Given the description of an element on the screen output the (x, y) to click on. 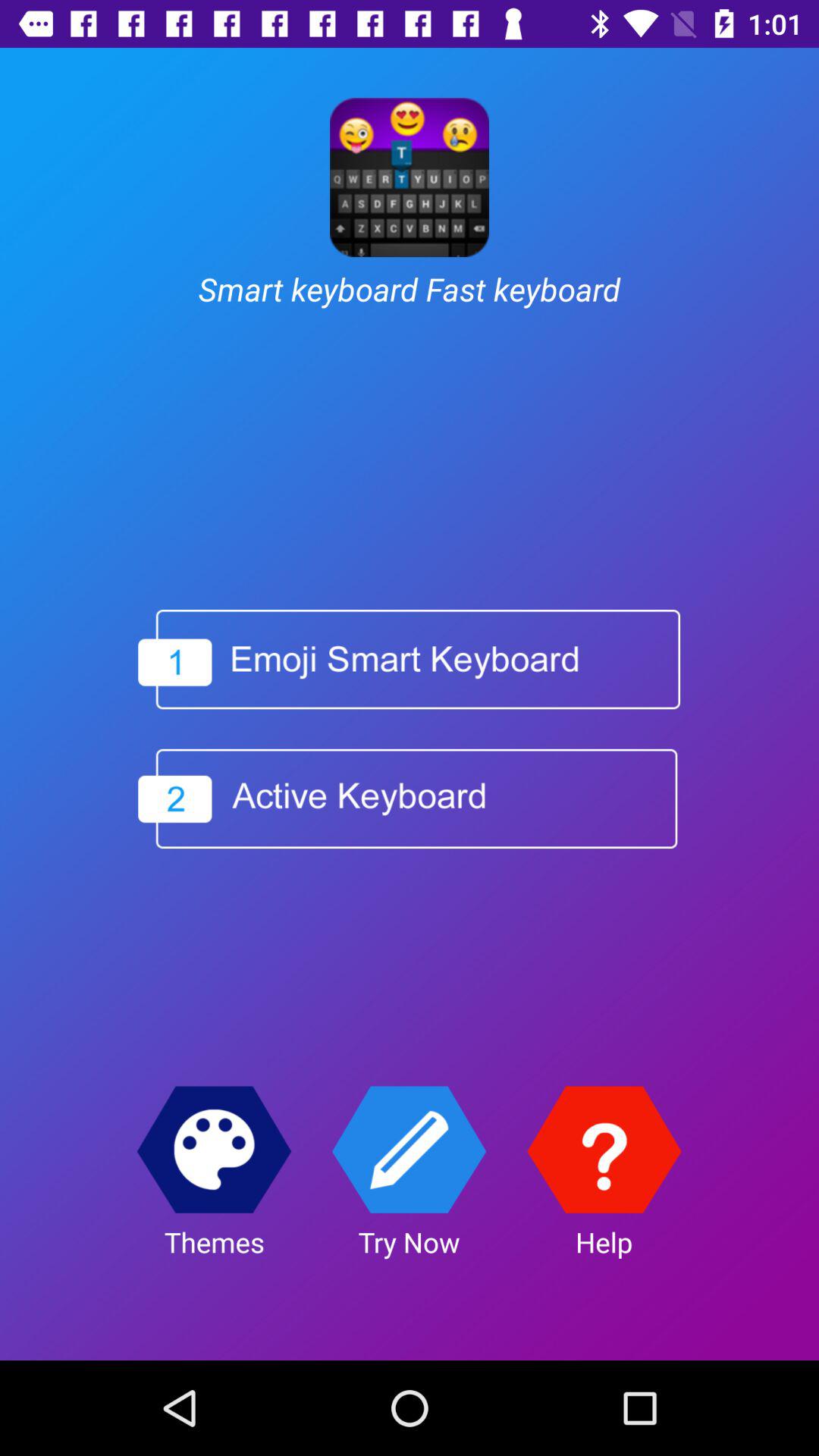
get help (603, 1149)
